Given the description of an element on the screen output the (x, y) to click on. 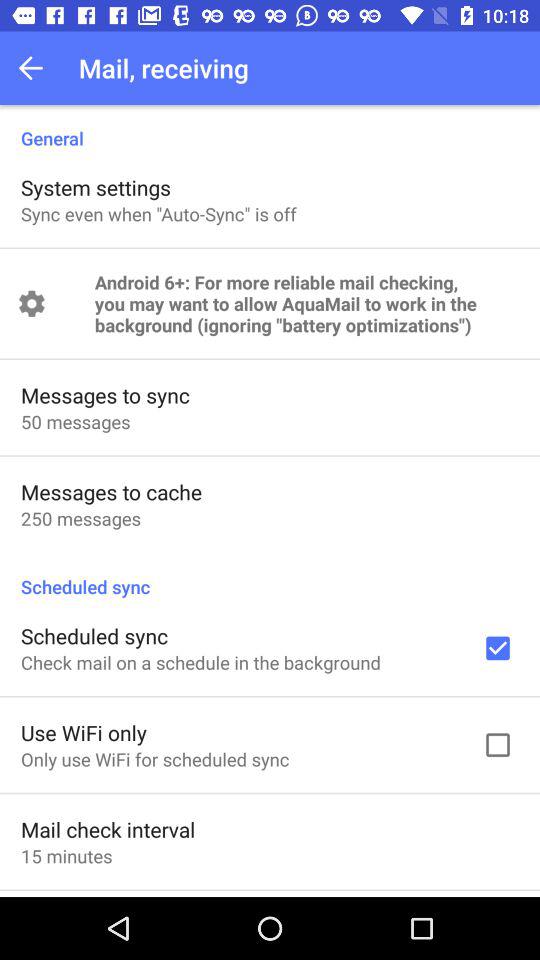
click the app above the messages to sync app (306, 303)
